Given the description of an element on the screen output the (x, y) to click on. 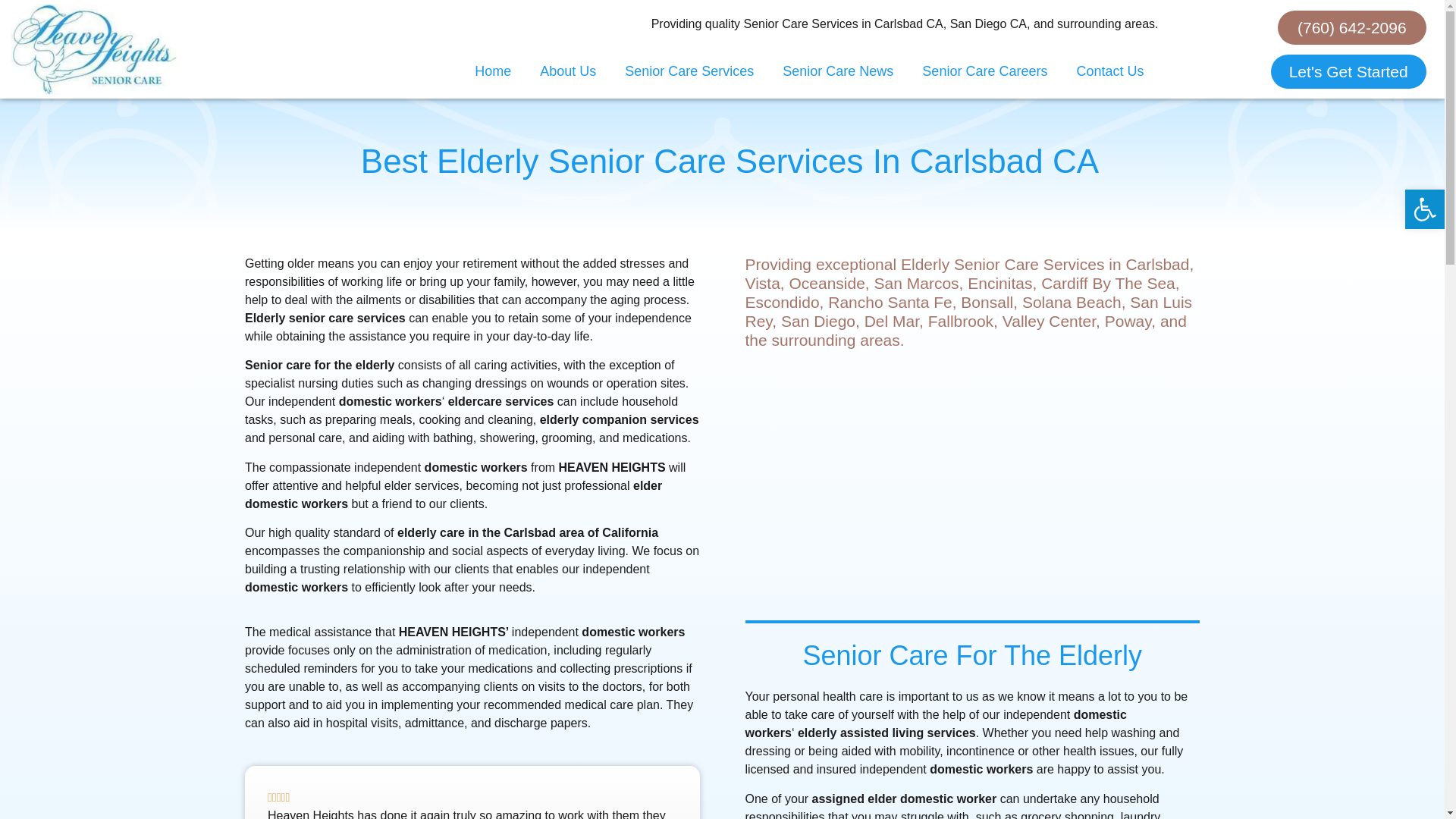
Contact Us (1109, 70)
Senior Care News (837, 70)
Home (492, 70)
Let's Get Started (1348, 71)
Senior Care Careers (984, 70)
Accessibility Tools (1424, 209)
About Us (567, 70)
Senior Care Services (689, 70)
